Given the description of an element on the screen output the (x, y) to click on. 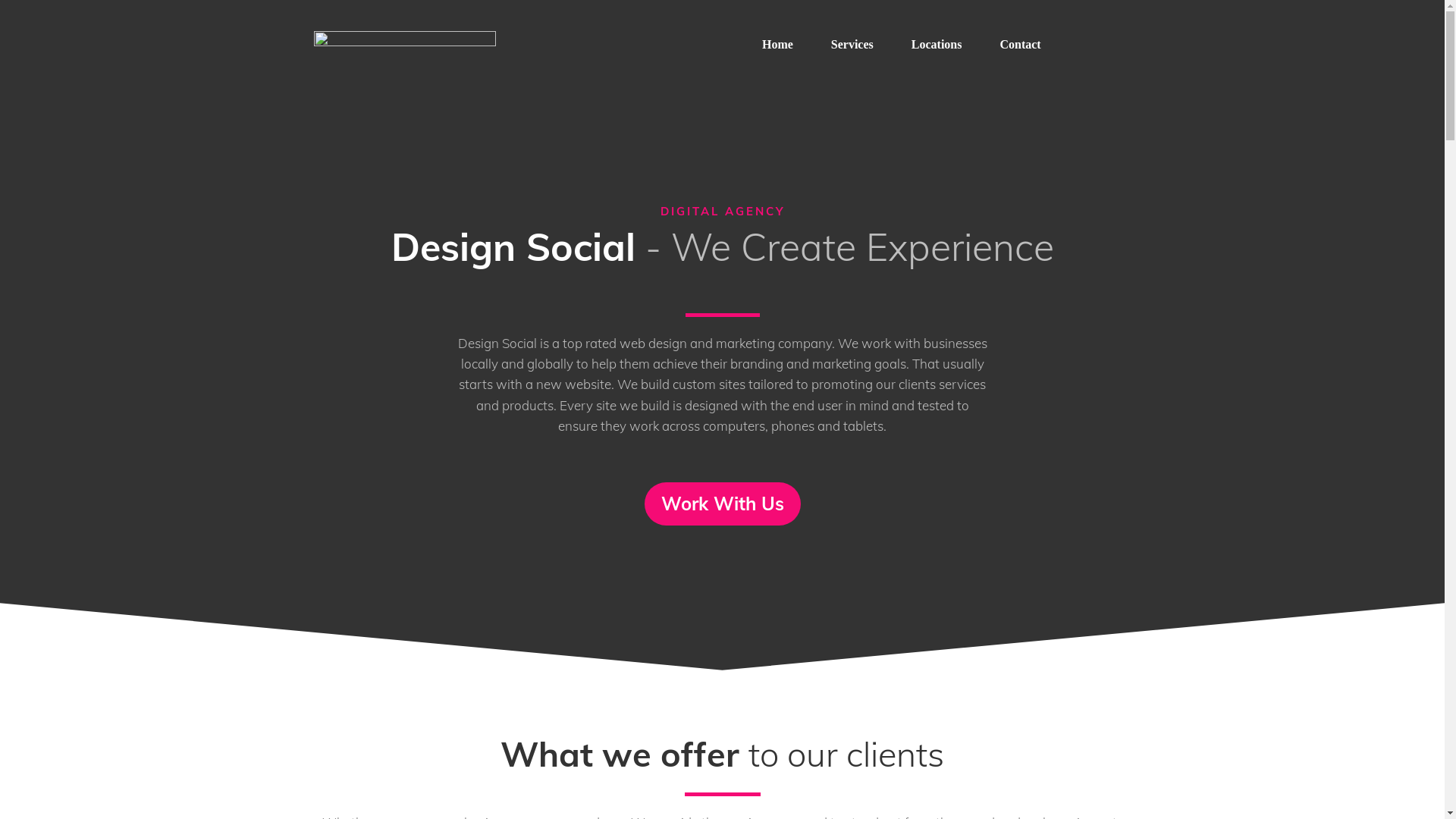
Work With Us Element type: text (722, 503)
Services Element type: text (852, 44)
Locations Element type: text (936, 44)
Contact Element type: text (1019, 44)
Home Element type: text (777, 44)
Design social (1) Element type: hover (404, 51)
